Given the description of an element on the screen output the (x, y) to click on. 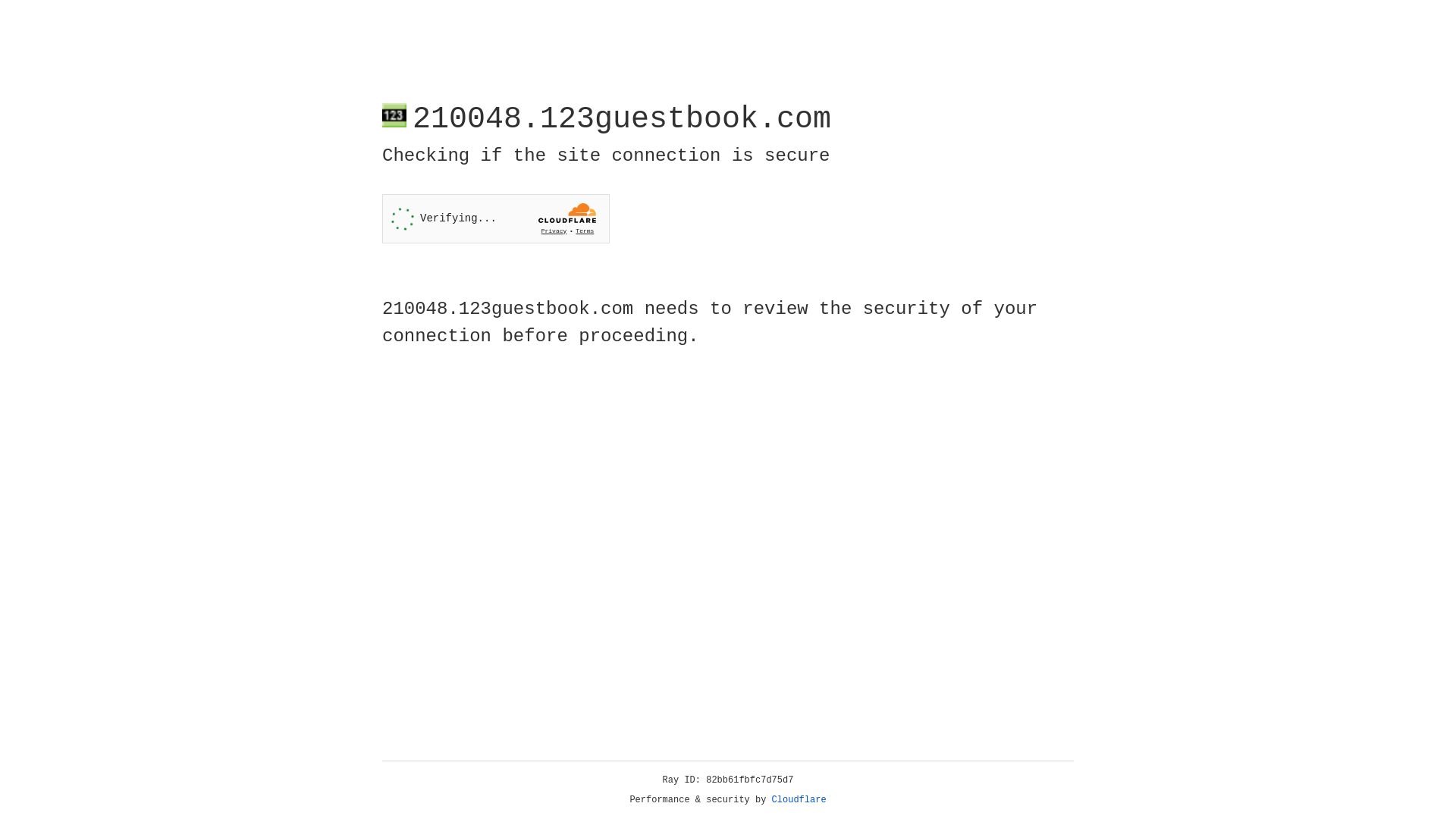
Cloudflare Element type: text (798, 799)
Widget containing a Cloudflare security challenge Element type: hover (495, 218)
